Given the description of an element on the screen output the (x, y) to click on. 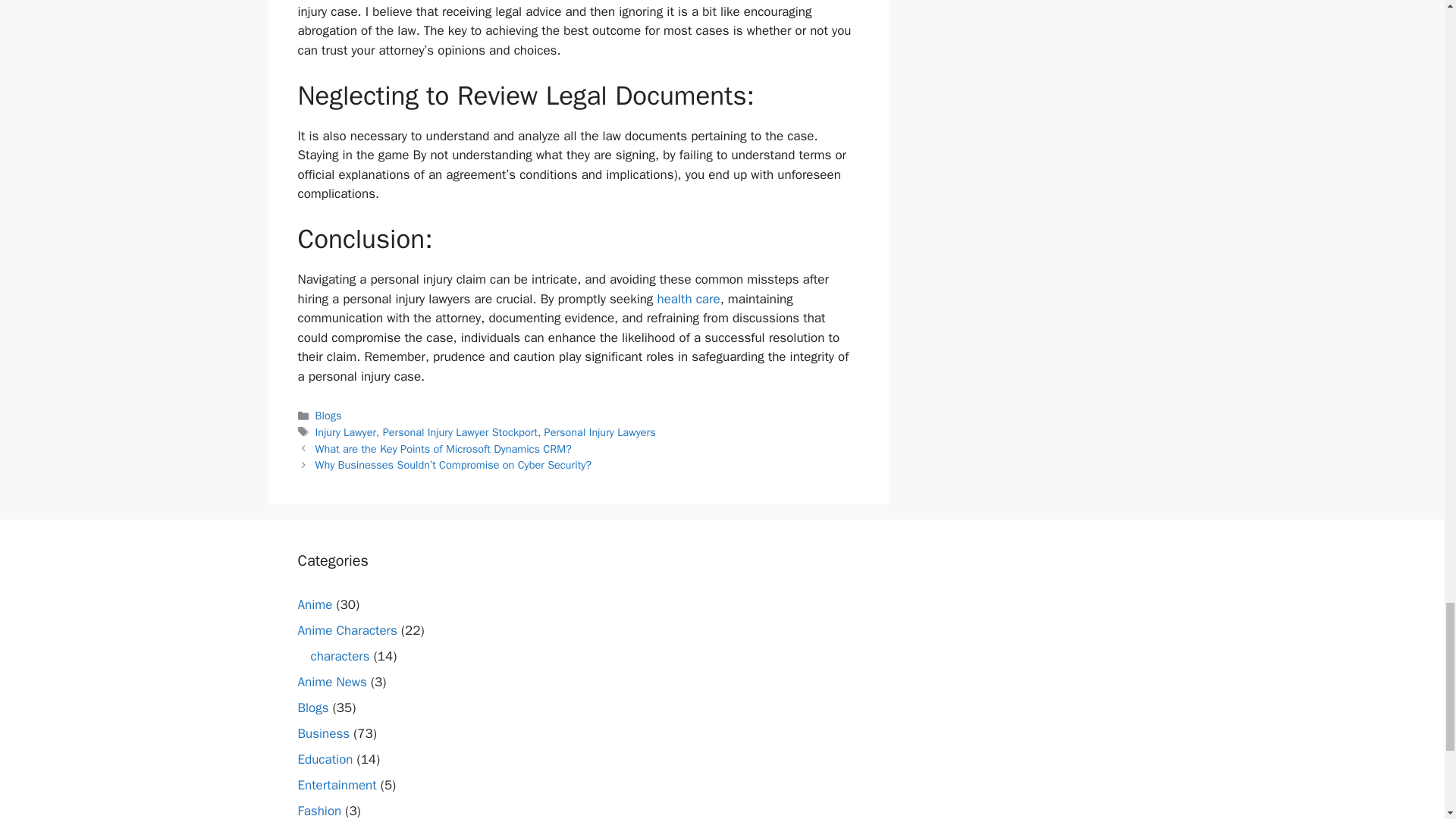
Personal Injury Lawyers (600, 431)
Injury Lawyer (345, 431)
Personal Injury Lawyer Stockport (459, 431)
health care (687, 299)
What are the Key Points of Microsoft Dynamics CRM? (443, 448)
Blogs (328, 415)
